Given the description of an element on the screen output the (x, y) to click on. 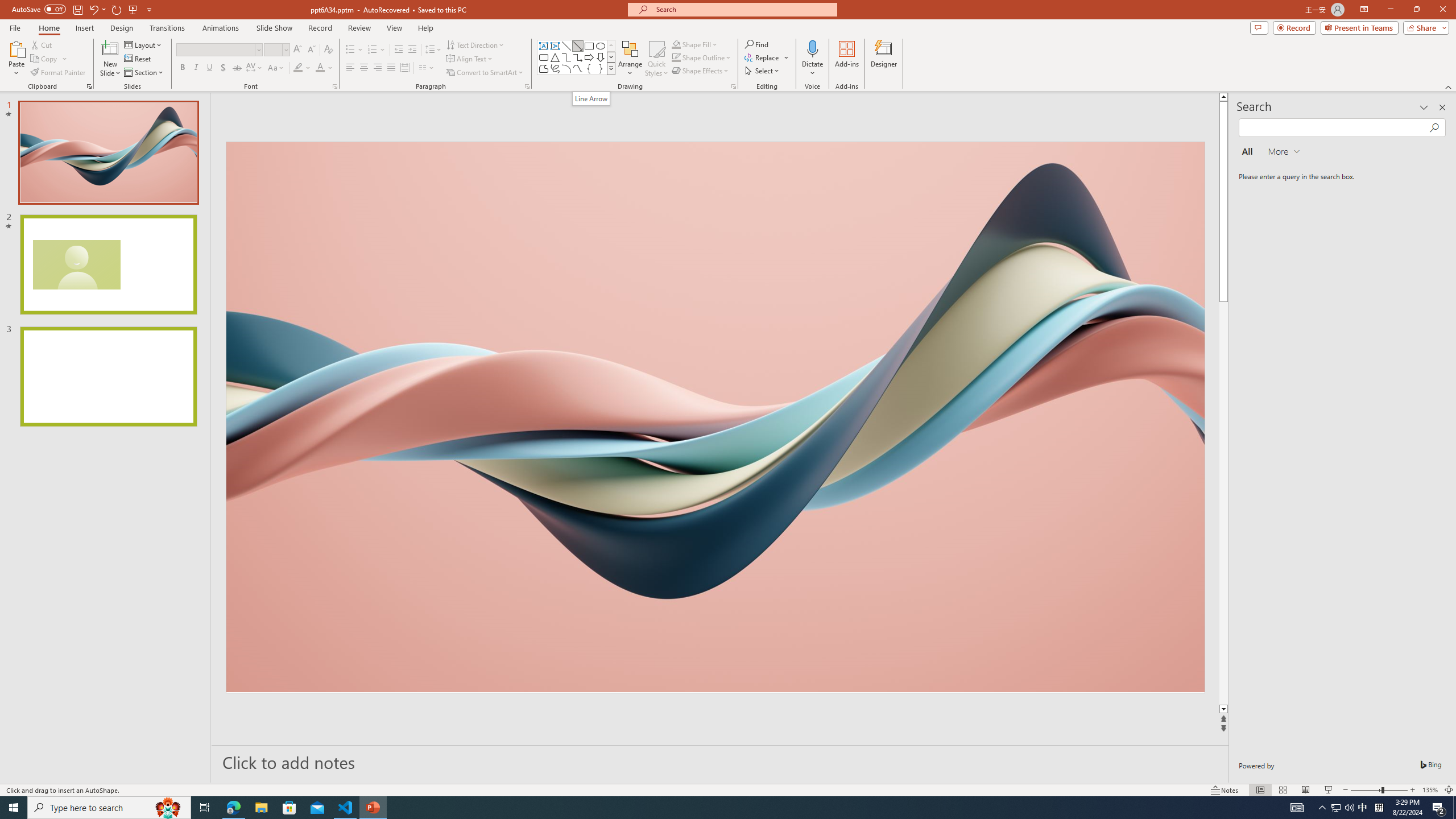
Numbering (372, 49)
Font Color (324, 67)
Increase Font Size (297, 49)
Line Arrow (577, 45)
Oval (600, 45)
Font Size (276, 49)
Text Highlight Color (297, 67)
Font Size (273, 49)
Font... (334, 85)
Align Text (470, 58)
Align Left (349, 67)
